Given the description of an element on the screen output the (x, y) to click on. 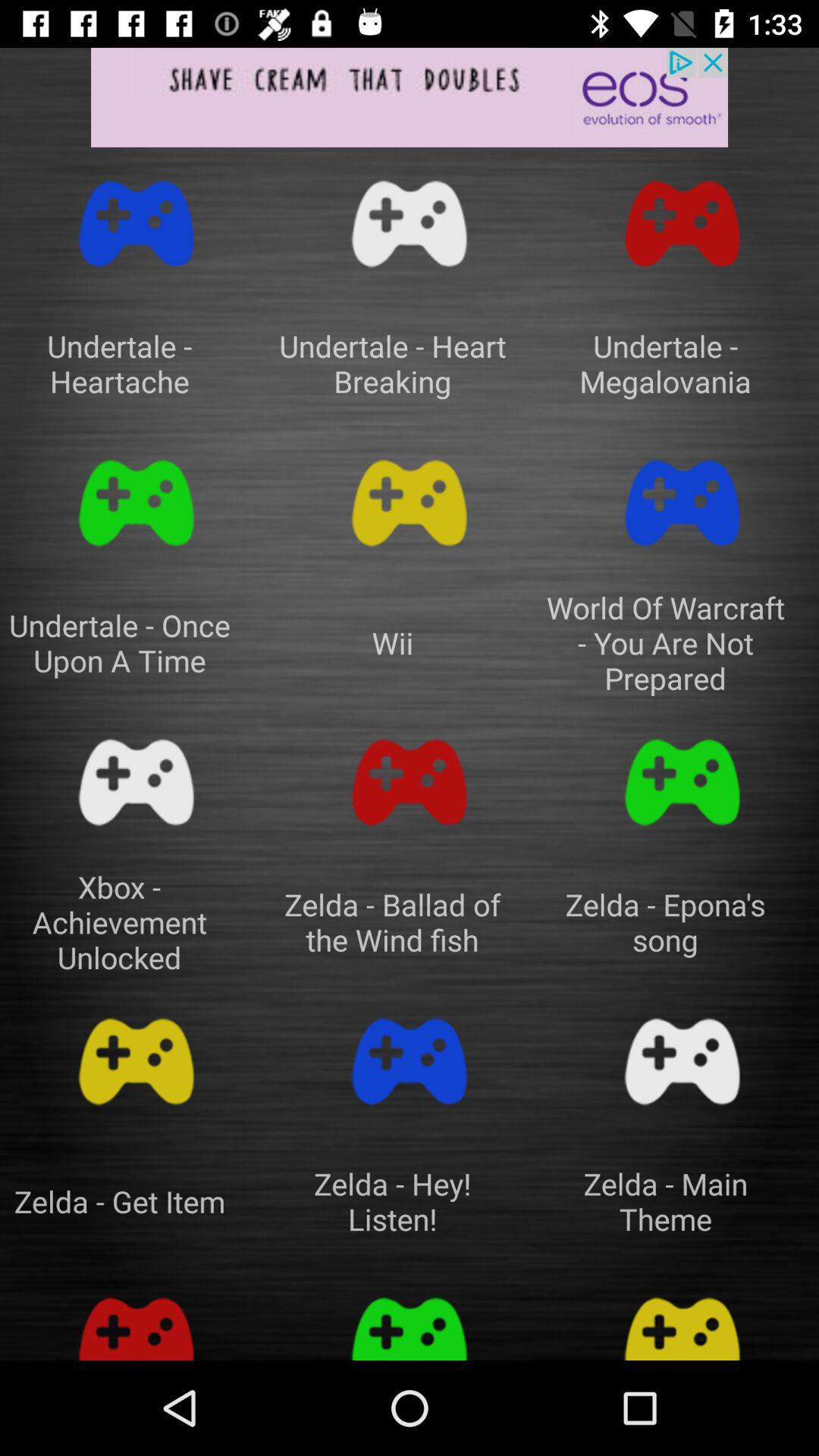
one of the theme for playing video games (682, 1320)
